Given the description of an element on the screen output the (x, y) to click on. 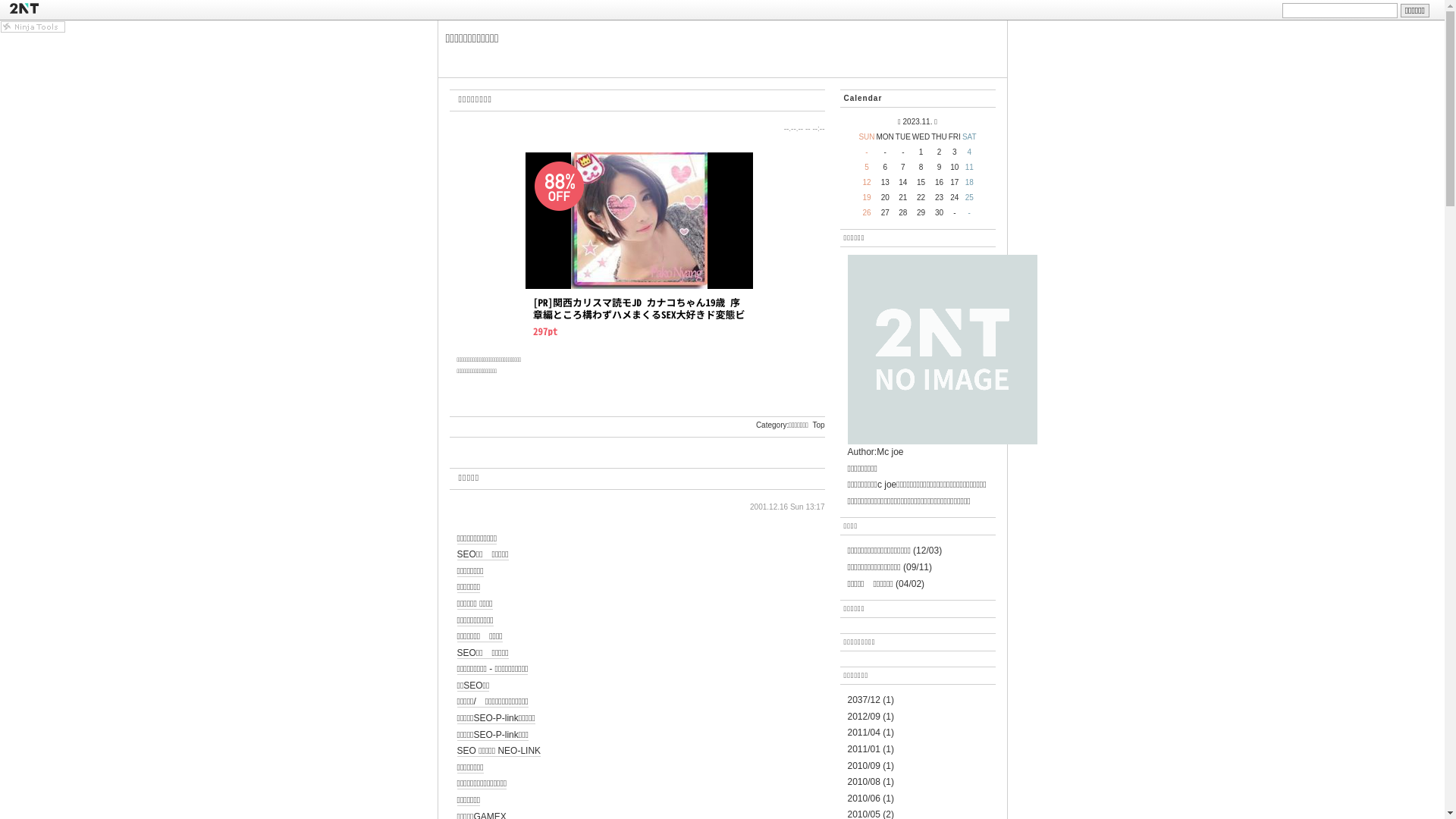
2011/01 (1) Element type: text (870, 748)
2037/12 (1) Element type: text (870, 699)
2010/09 (1) Element type: text (870, 765)
2010/06 (1) Element type: text (870, 798)
2012/09 (1) Element type: text (870, 716)
2010/08 (1) Element type: text (870, 781)
2011/04 (1) Element type: text (870, 732)
Top Element type: text (818, 424)
